Given the description of an element on the screen output the (x, y) to click on. 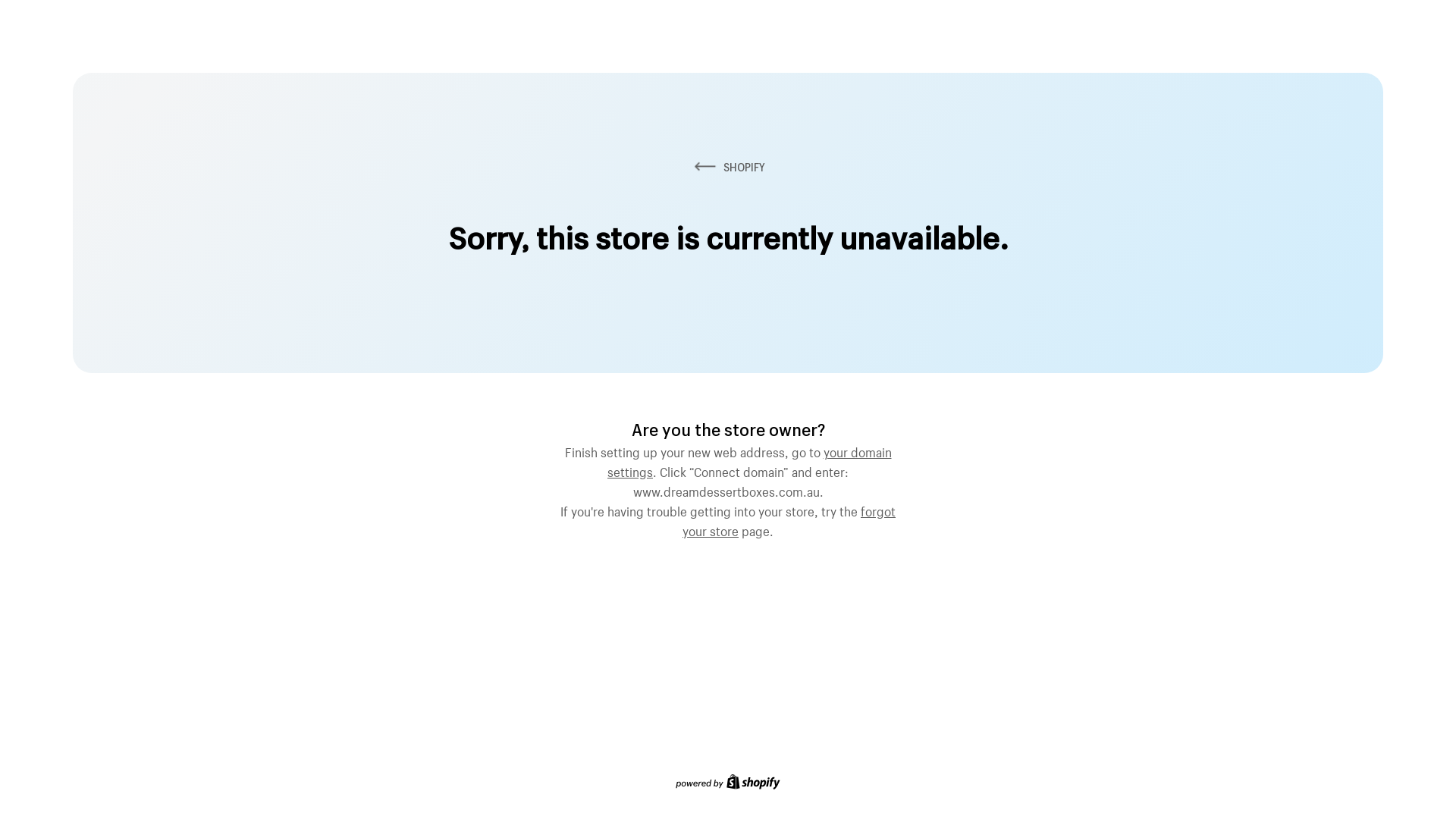
SHOPIFY Element type: text (727, 167)
forgot your store Element type: text (788, 519)
your domain settings Element type: text (749, 460)
